Given the description of an element on the screen output the (x, y) to click on. 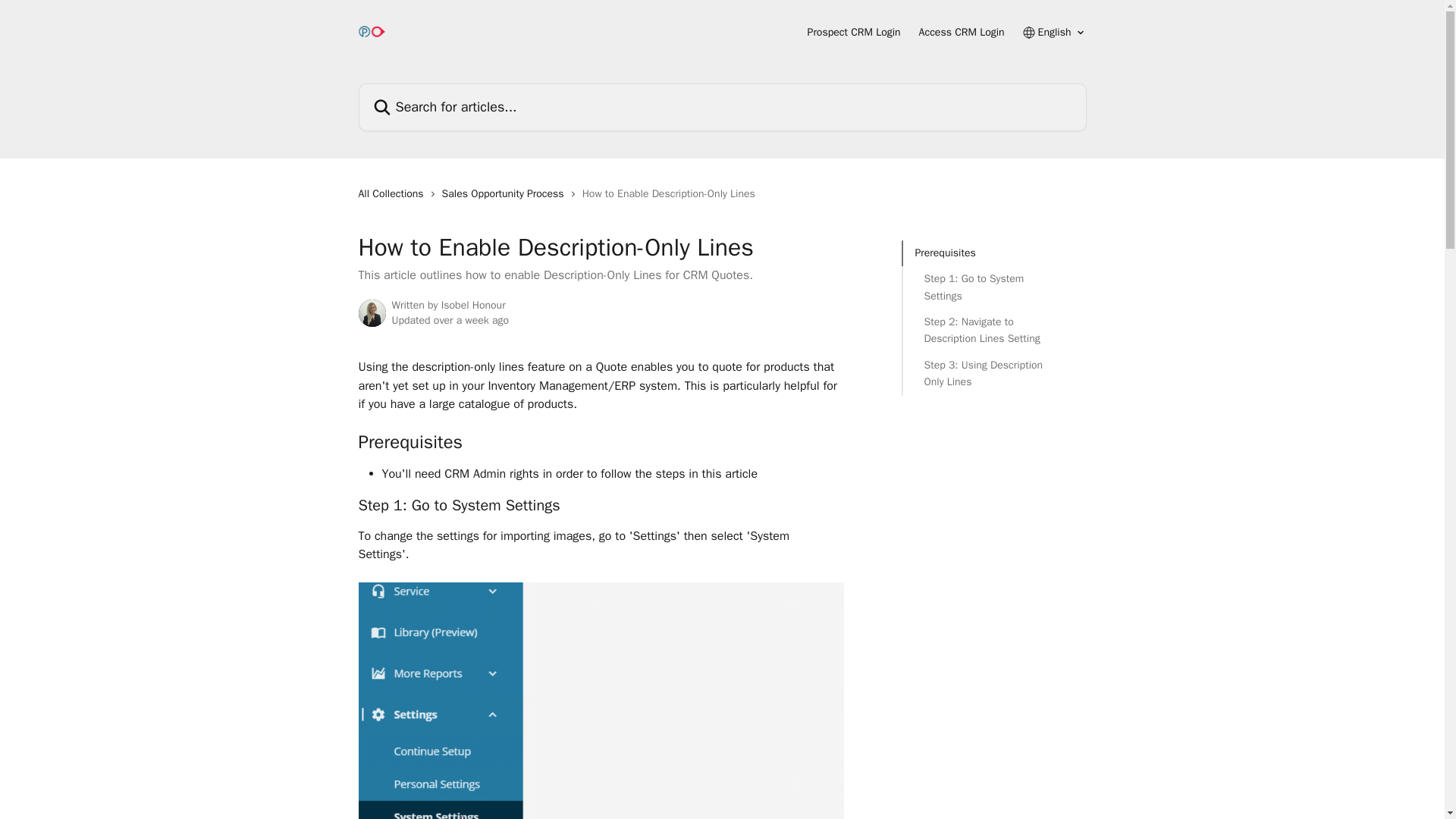
Step 1: Go to System Settings (993, 287)
Step 2: Navigate to Description Lines Setting (993, 330)
Prospect CRM Login (854, 32)
Sales Opportunity Process (506, 193)
Prerequisites (994, 252)
Step 3: Using Description Only Lines (993, 374)
Access CRM Login (961, 32)
All Collections (393, 193)
